Given the description of an element on the screen output the (x, y) to click on. 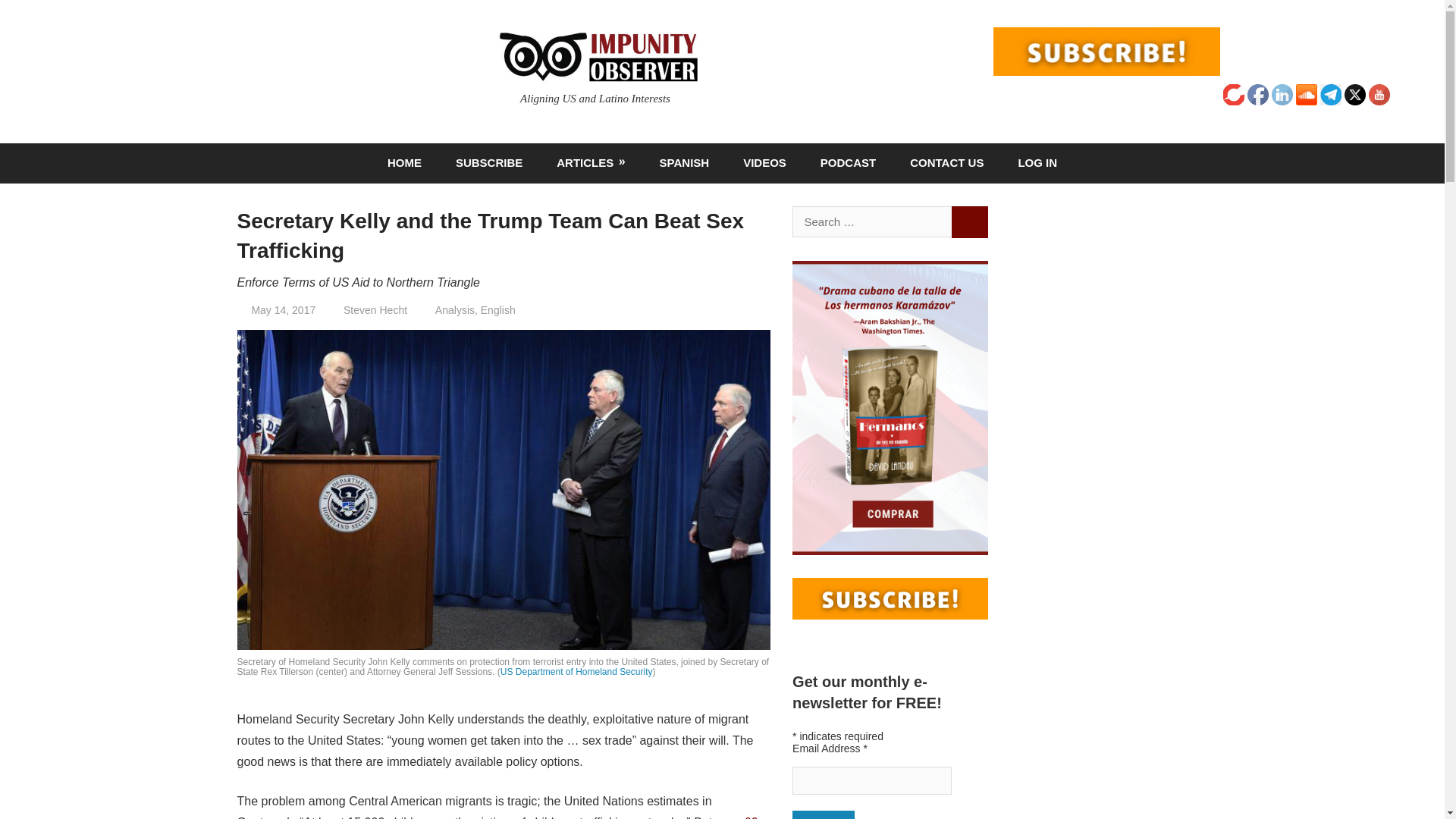
View all posts by Steven Hecht (375, 309)
Submit (823, 814)
US Department of Homeland Security (576, 671)
Steven Hecht (375, 309)
LOG IN (1037, 163)
BitChute (1233, 94)
60 (751, 817)
SUBSCRIBE (488, 163)
LinkedIn (1281, 94)
VIDEOS (764, 163)
May 14, 2017 (282, 309)
HOME (403, 163)
SPANISH (684, 163)
Soundcloud (1306, 94)
Search for: (872, 221)
